Given the description of an element on the screen output the (x, y) to click on. 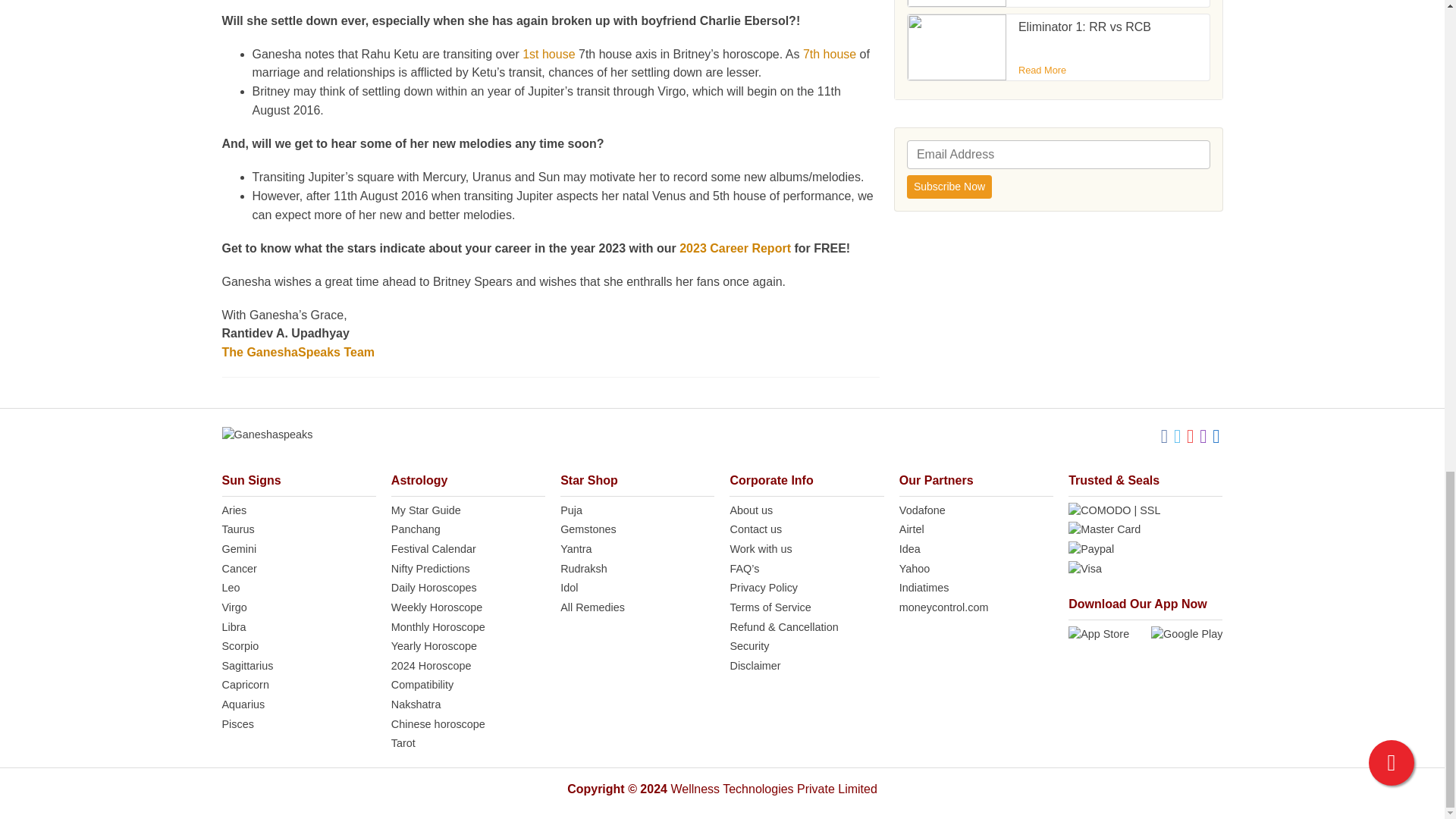
Scorpio (298, 646)
Virgo (298, 607)
Aries (298, 510)
Taurus (298, 529)
Leo (298, 588)
Aquarius (298, 704)
Capricorn (298, 685)
Sagittarius (298, 666)
Cancer (298, 569)
Ganeshaspeaks (267, 434)
Libra (298, 627)
Gemini (298, 549)
